Given the description of an element on the screen output the (x, y) to click on. 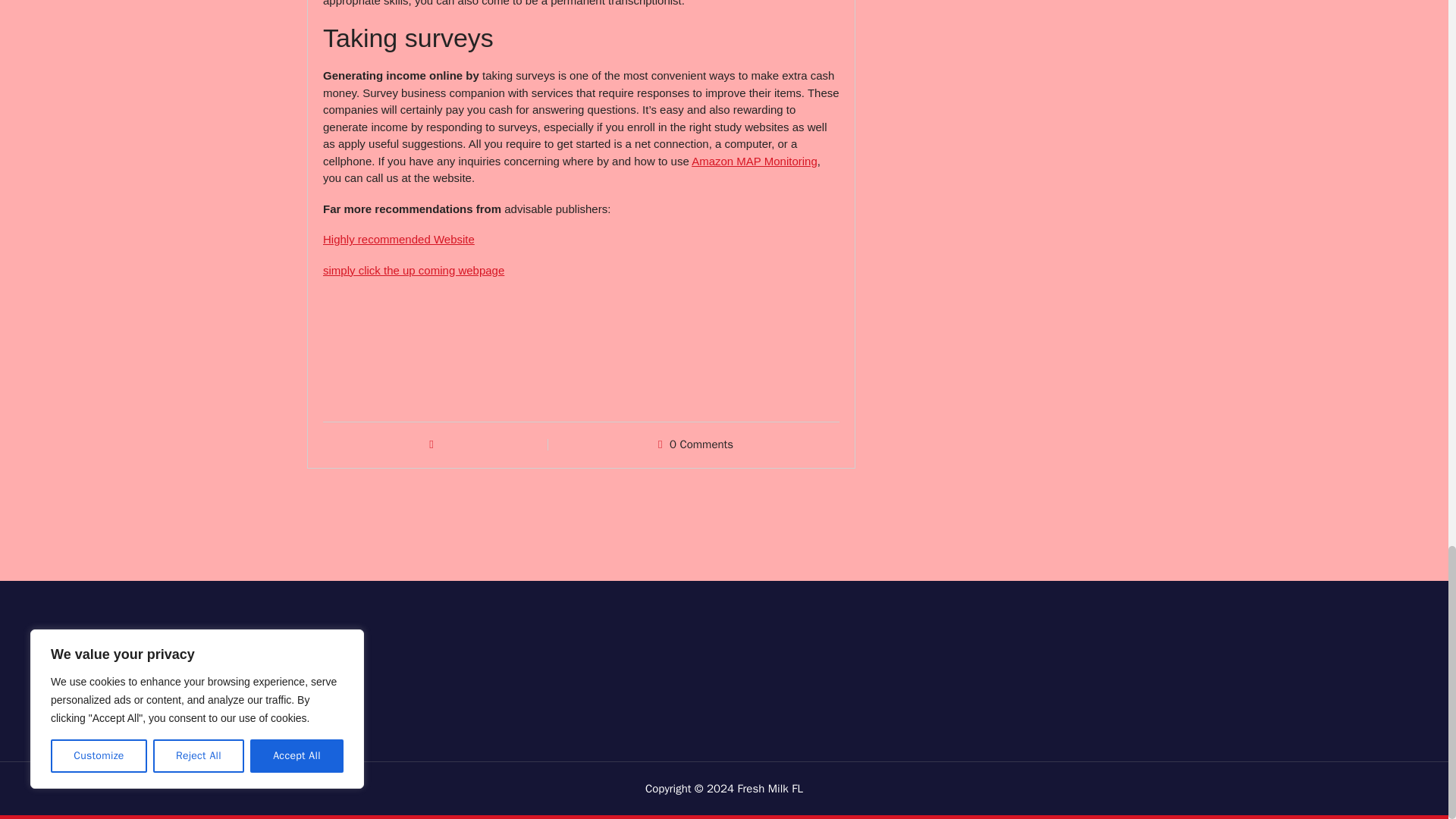
simply click the up coming webpage (413, 269)
Highly recommended Website (398, 238)
Amazon MAP Monitoring (753, 160)
